Given the description of an element on the screen output the (x, y) to click on. 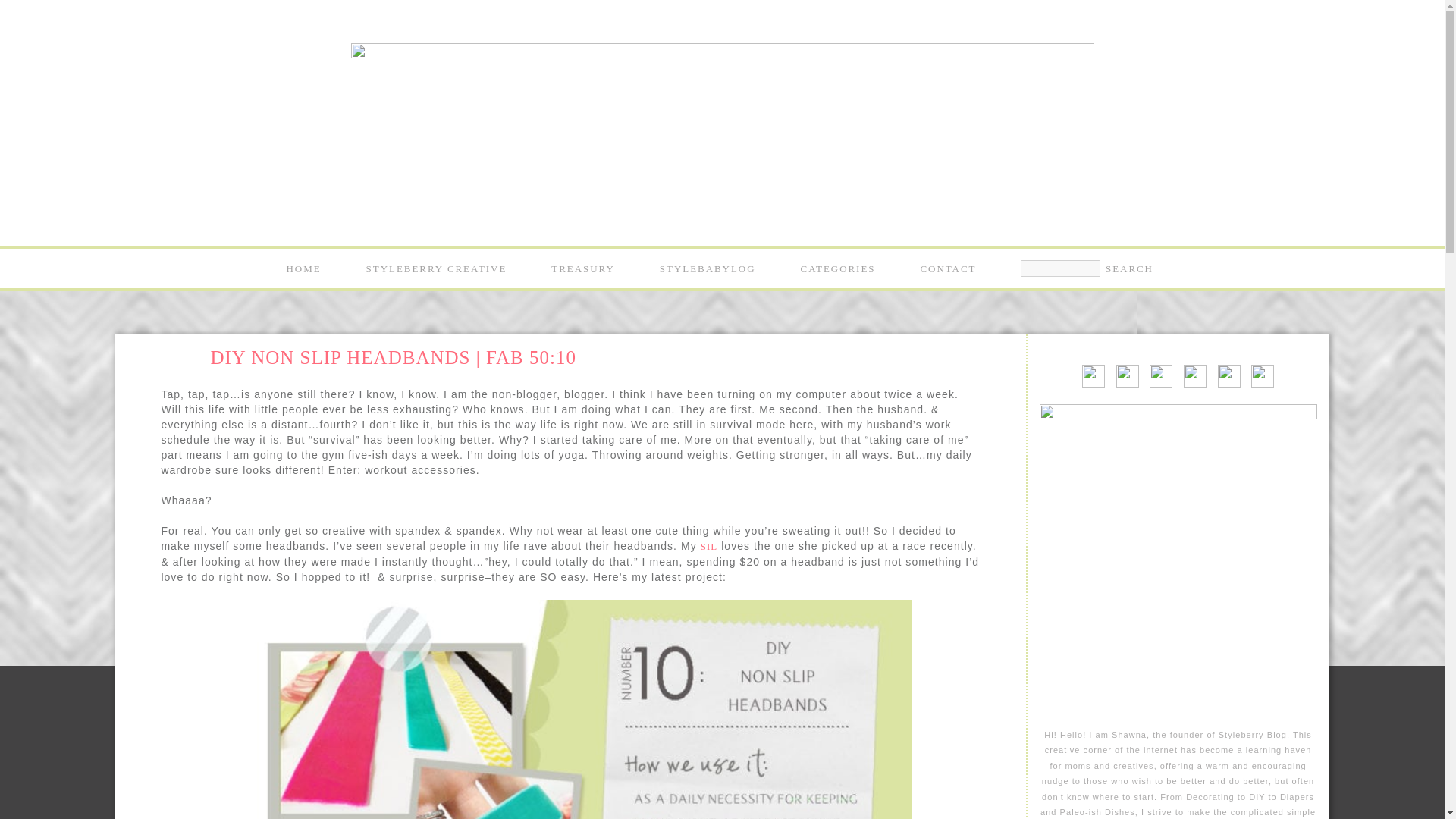
Search (1129, 268)
STYLEBABYLOG (707, 268)
Search (1129, 268)
STYLEBERRY CREATIVE (436, 268)
HOME (303, 268)
TREASURY (582, 268)
